Given the description of an element on the screen output the (x, y) to click on. 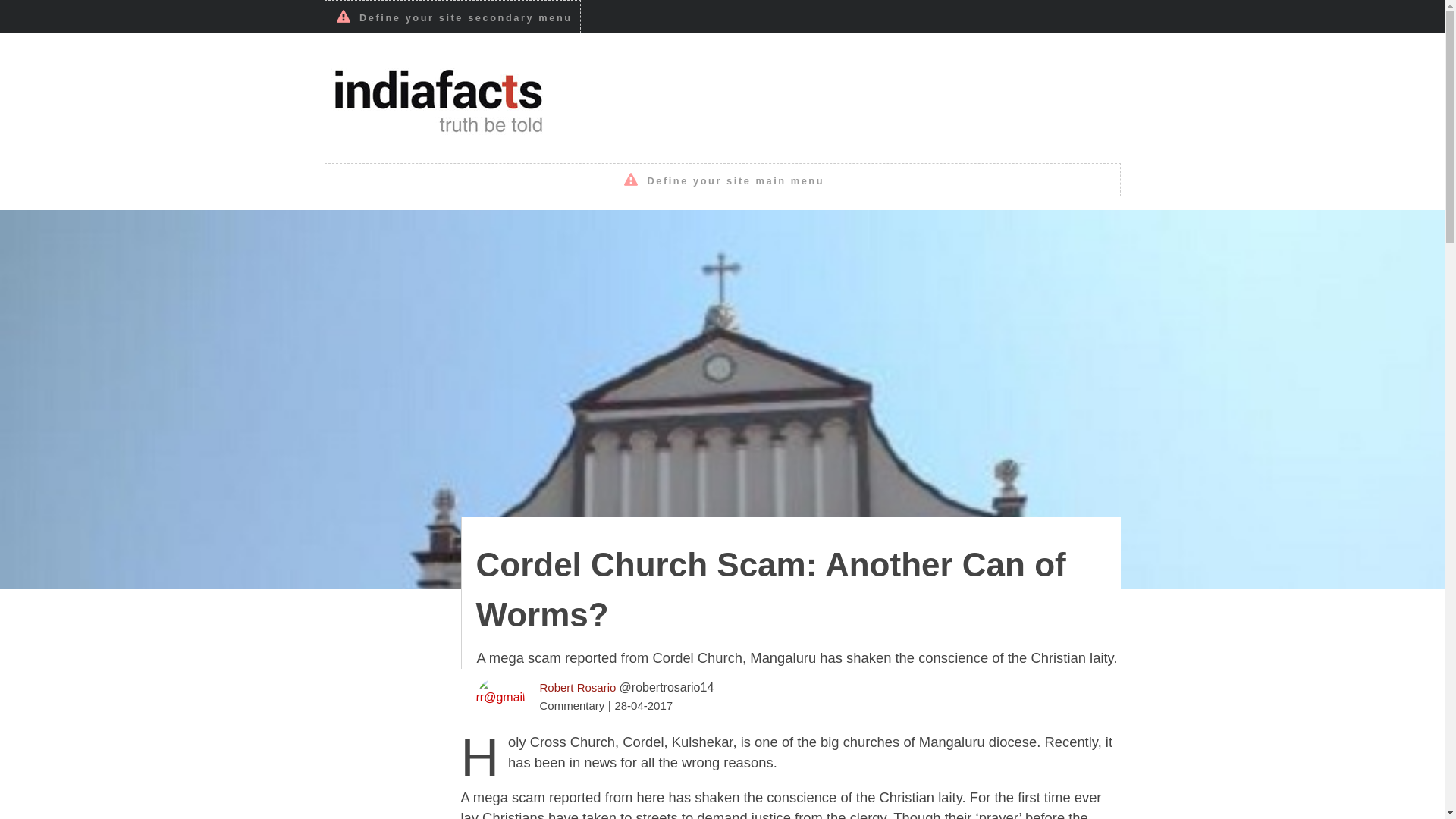
IndiaFacts - Truth be told (437, 98)
